Given the description of an element on the screen output the (x, y) to click on. 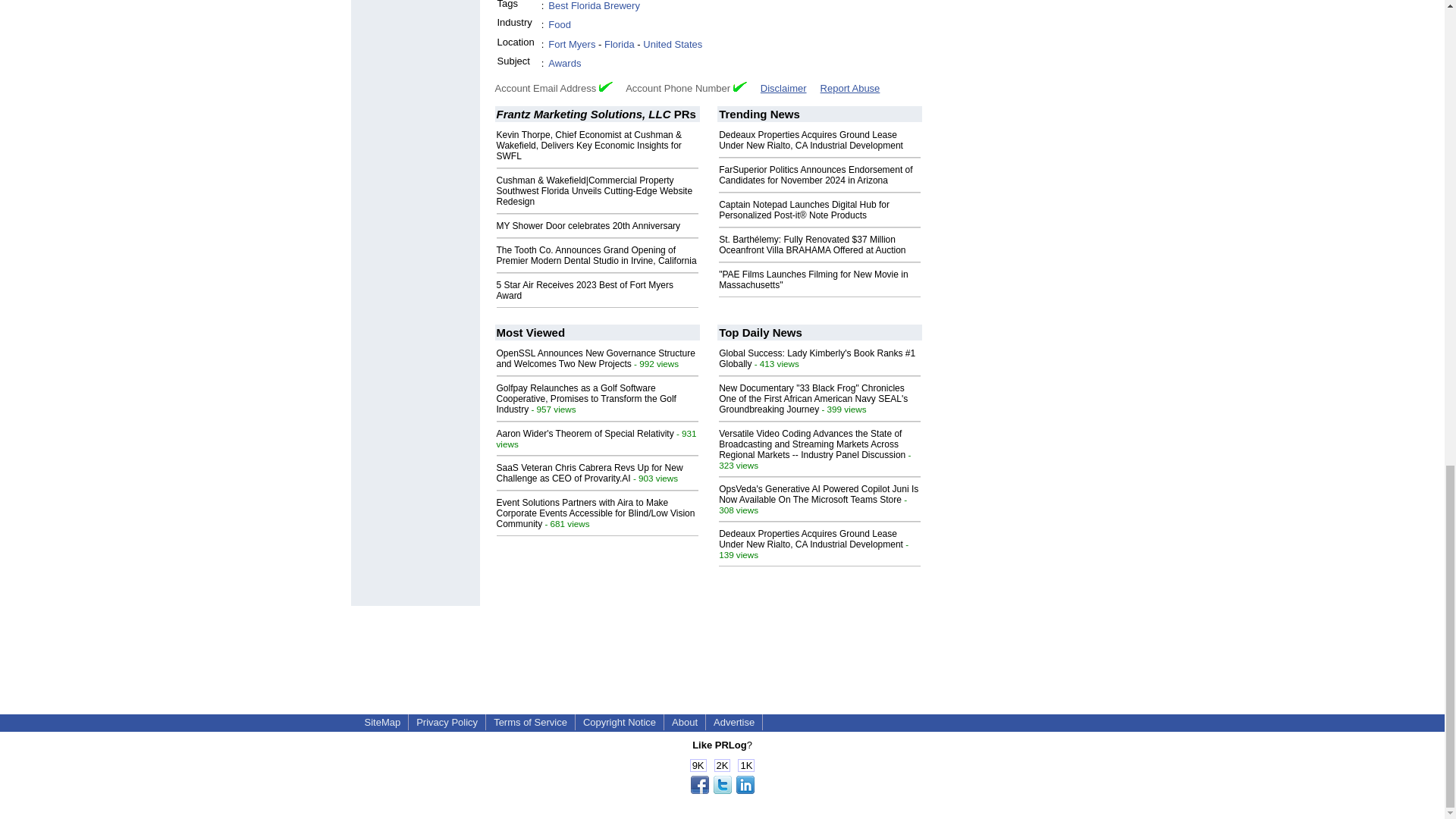
Share this page! (722, 790)
Verified (605, 86)
Verified (739, 86)
